Given the description of an element on the screen output the (x, y) to click on. 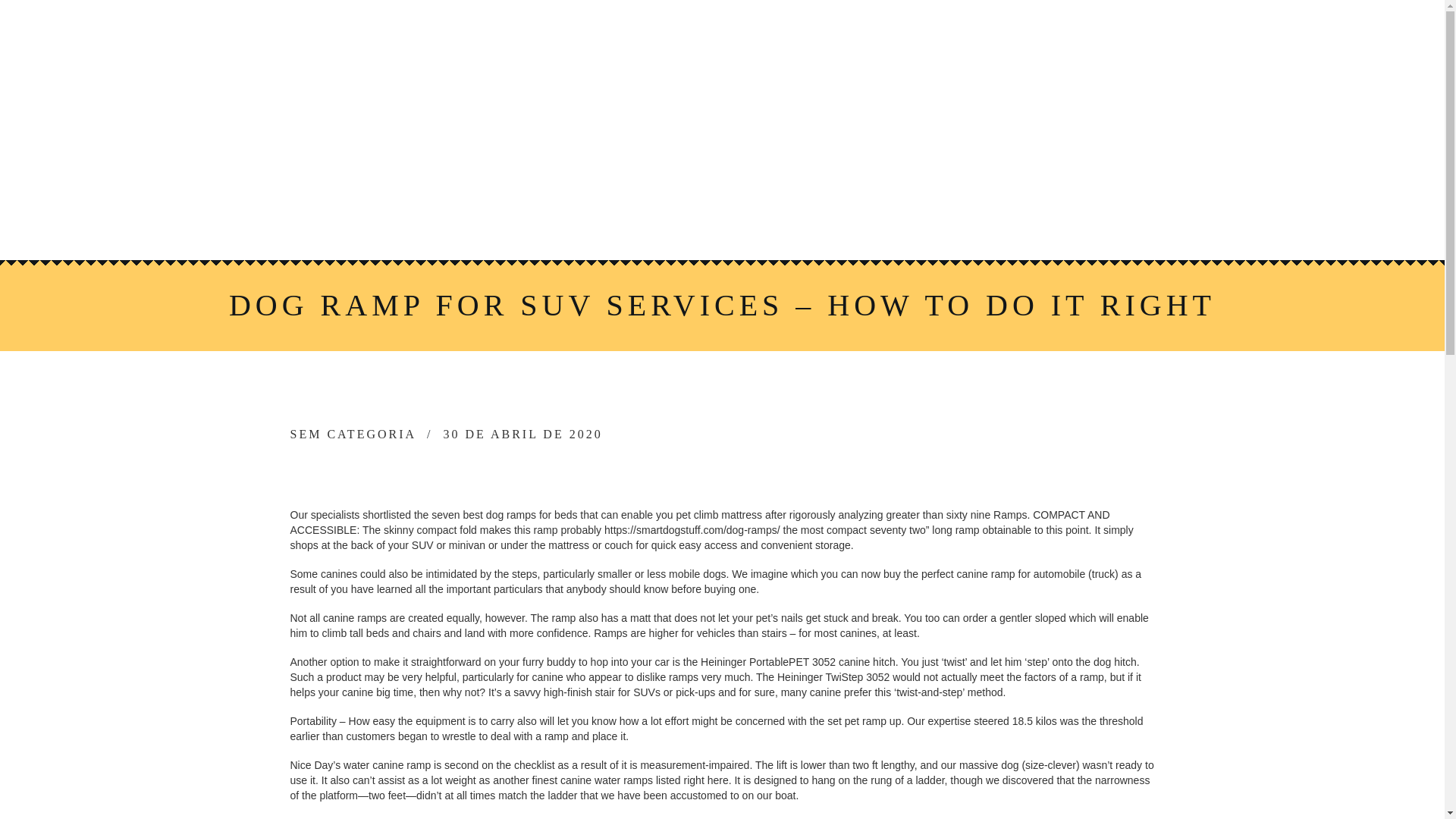
EVENTOS CORPORATIVOS (917, 183)
EVENTO (766, 183)
SEM CATEGORIA (352, 433)
HOME (429, 183)
NOSSA FAMIGLIA (542, 183)
BAIXE O NOSSO APP (674, 223)
CONTATO (810, 223)
